Given the description of an element on the screen output the (x, y) to click on. 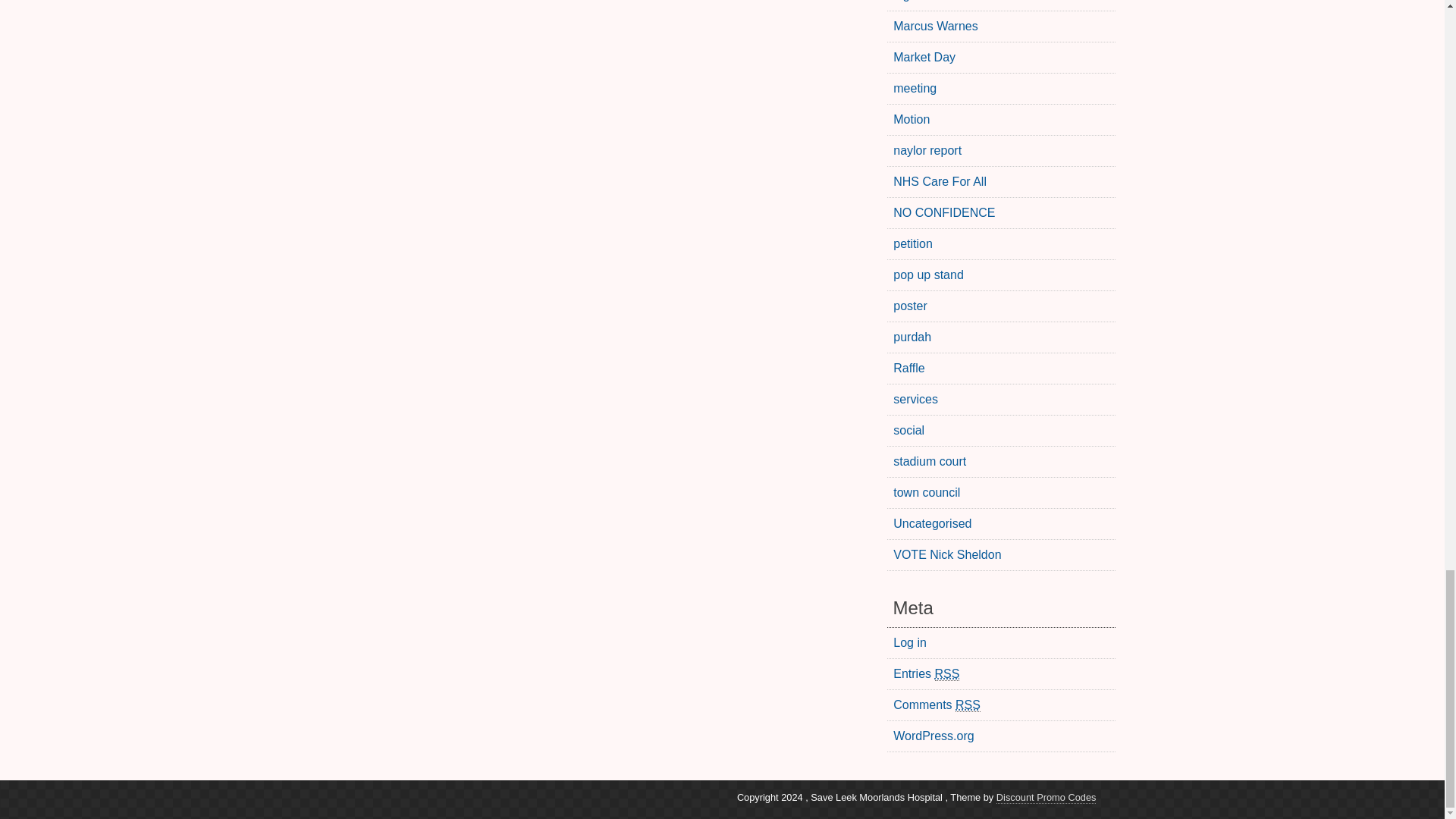
Really Simple Syndication (946, 673)
Really Simple Syndication (967, 704)
